Given the description of an element on the screen output the (x, y) to click on. 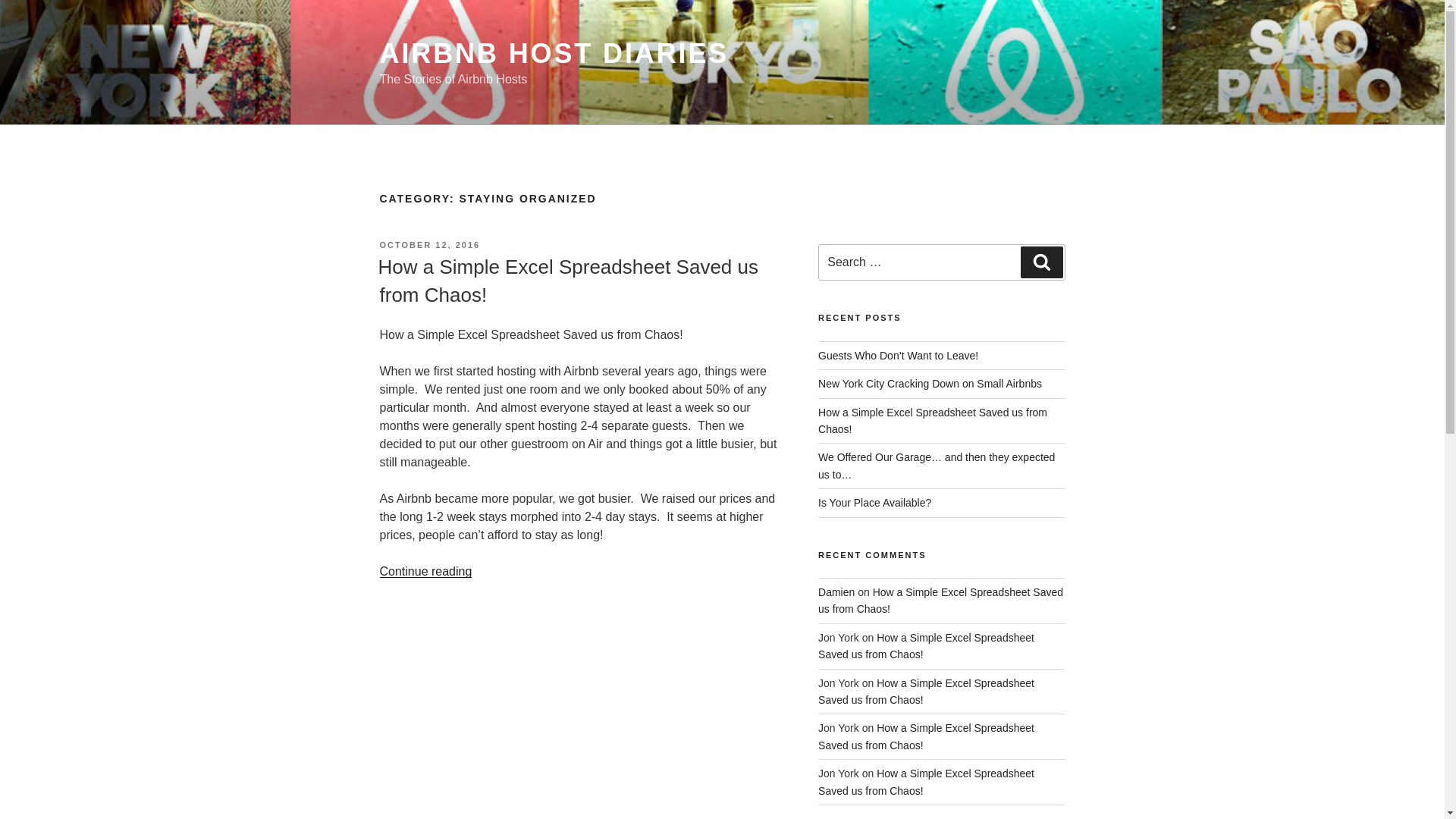
How a Simple Excel Spreadsheet Saved us from Chaos! (932, 420)
Search (1041, 262)
Is Your Place Available? (874, 502)
Damien (836, 592)
How a Simple Excel Spreadsheet Saved us from Chaos! (925, 781)
How a Simple Excel Spreadsheet Saved us from Chaos! (567, 280)
How a Simple Excel Spreadsheet Saved us from Chaos! (925, 736)
AIRBNB HOST DIARIES (553, 52)
OCTOBER 12, 2016 (429, 244)
How a Simple Excel Spreadsheet Saved us from Chaos! (925, 645)
How a Simple Excel Spreadsheet Saved us from Chaos! (940, 600)
How a Simple Excel Spreadsheet Saved us from Chaos! (925, 691)
New York City Cracking Down on Small Airbnbs (930, 383)
